Given the description of an element on the screen output the (x, y) to click on. 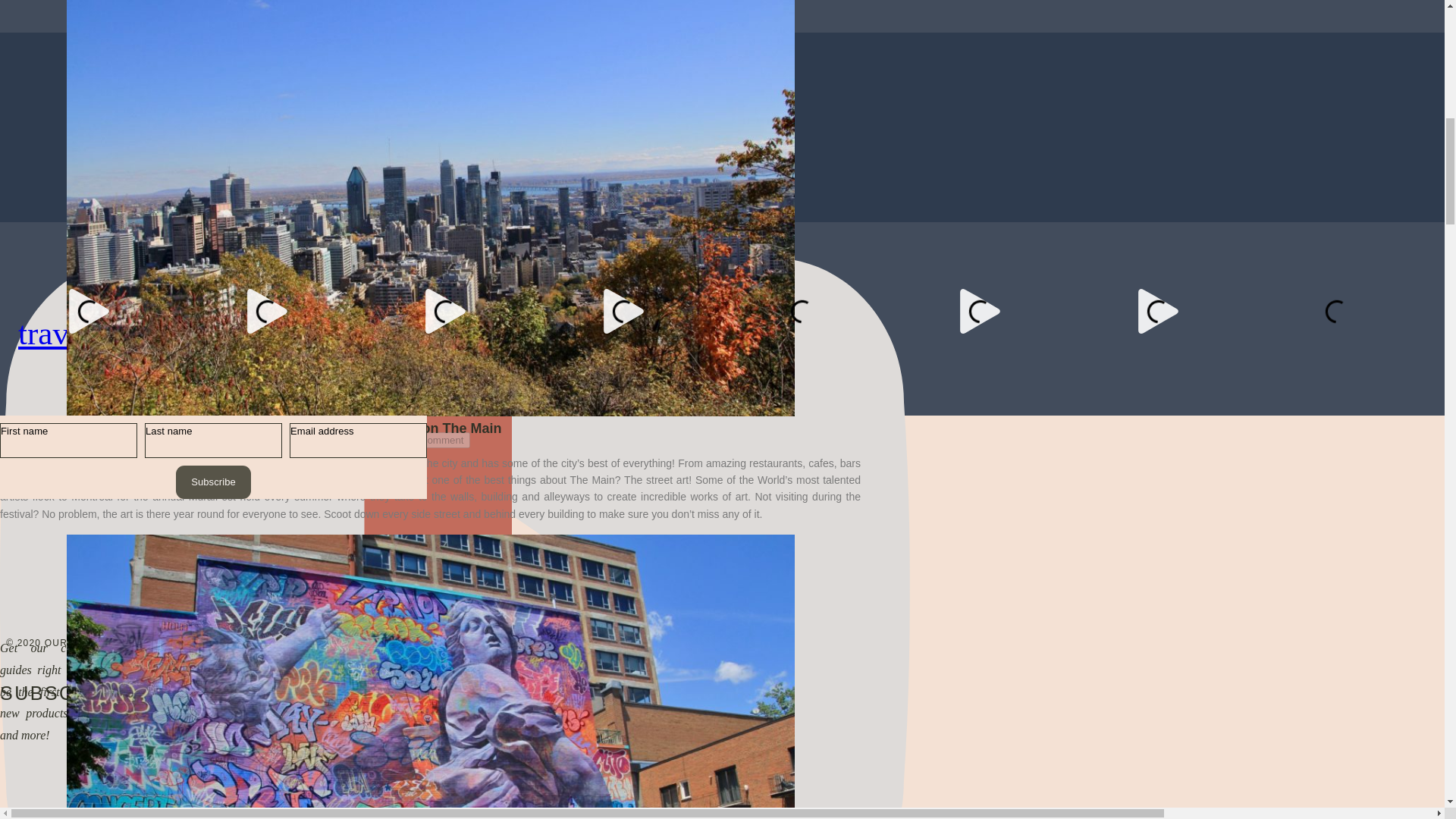
travel guides (101, 333)
Post Comment (429, 439)
BE THE FIRST TO COMMENT (429, 54)
yes (243, 409)
